Given the description of an element on the screen output the (x, y) to click on. 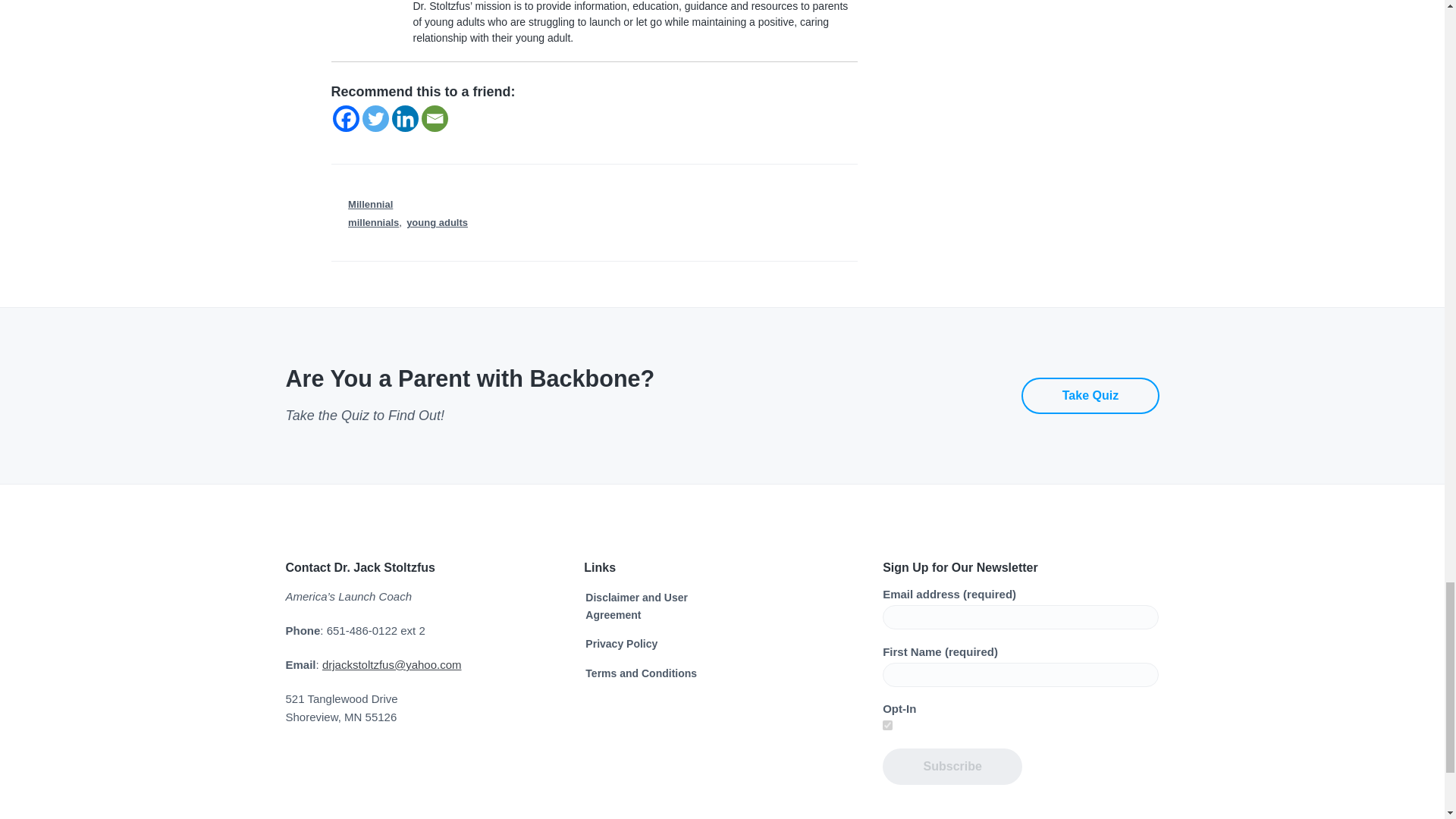
Dr. Jack Stoltzfus (369, 14)
Linkedin (404, 118)
Twitter (375, 118)
Facebook (344, 118)
Email (435, 118)
Subscribe (952, 766)
eb3a2577cc (887, 725)
